Given the description of an element on the screen output the (x, y) to click on. 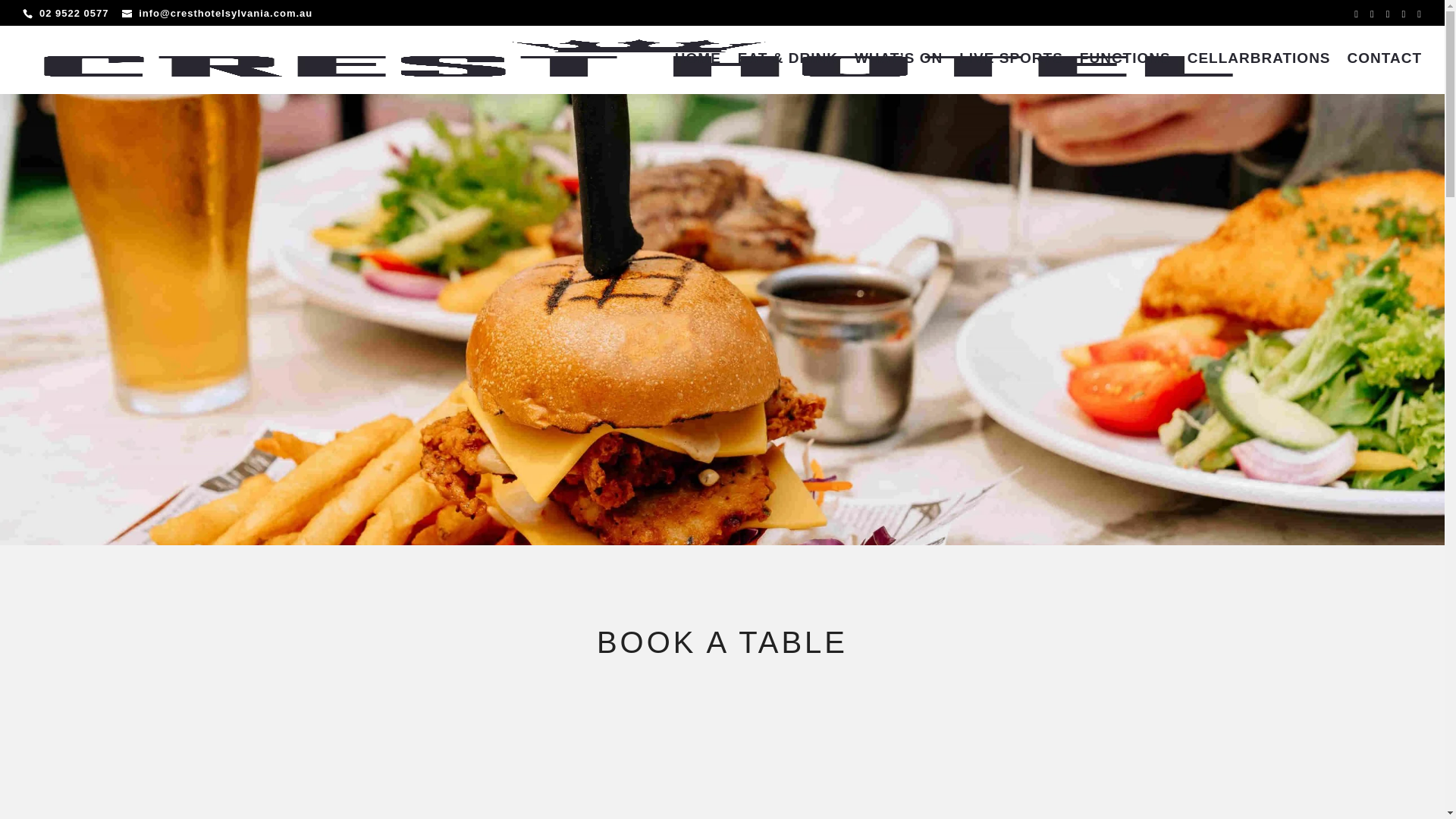
CONTACT Element type: text (1384, 73)
EAT & DRINK Element type: text (787, 73)
info@cresthotelsylvania.com.au Element type: text (217, 12)
FUNCTIONS Element type: text (1124, 73)
LIVE SPORTS Element type: text (1011, 73)
CELLARBRATIONS Element type: text (1258, 73)
HOME Element type: text (697, 73)
